Given the description of an element on the screen output the (x, y) to click on. 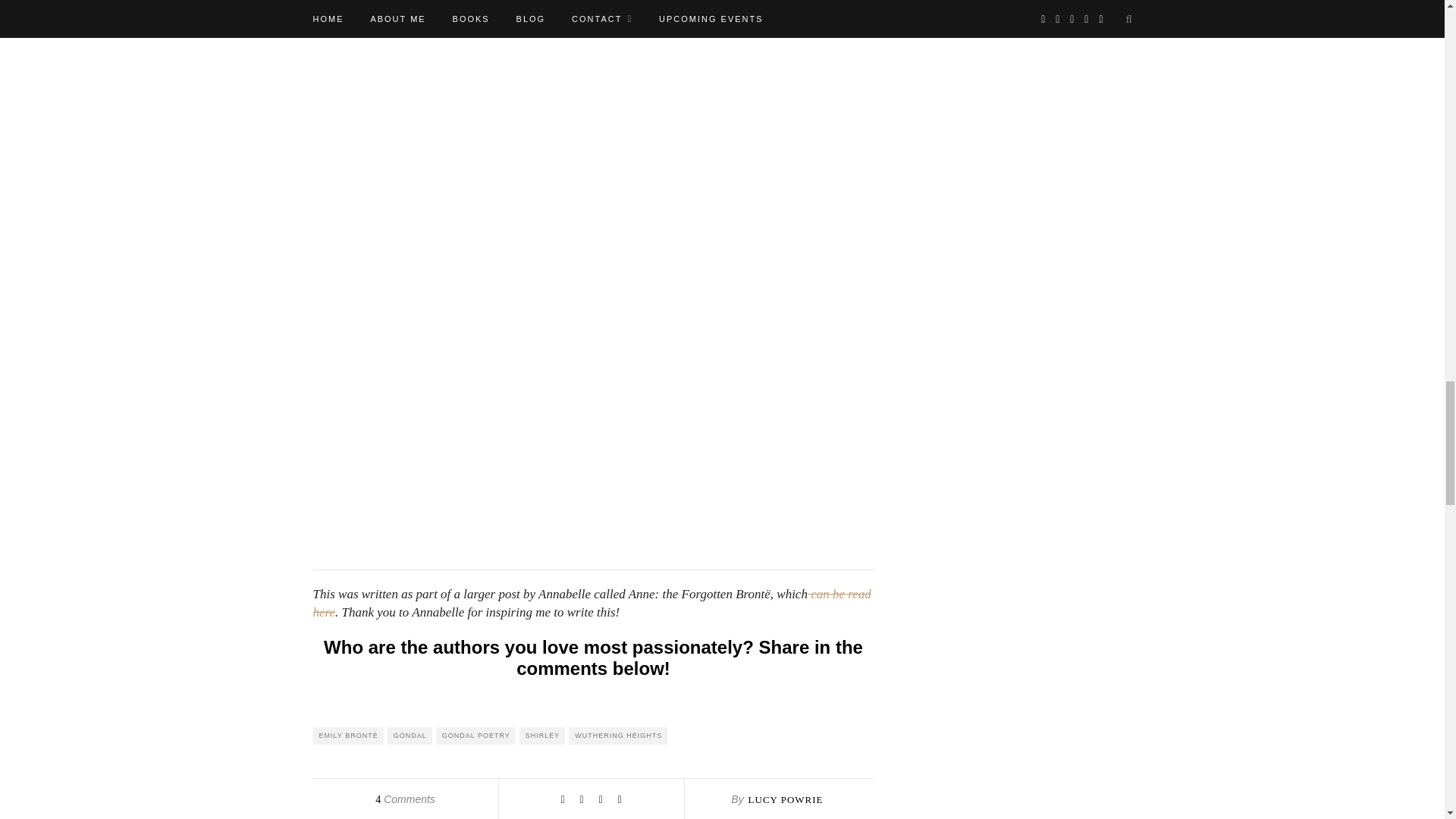
WUTHERING HEIGHTS (617, 735)
GONDAL (409, 735)
can be read here (591, 603)
LUCY POWRIE (786, 799)
SHIRLEY (542, 735)
GONDAL POETRY (475, 735)
Posts by Lucy Powrie (786, 799)
4 Comments (405, 799)
